Given the description of an element on the screen output the (x, y) to click on. 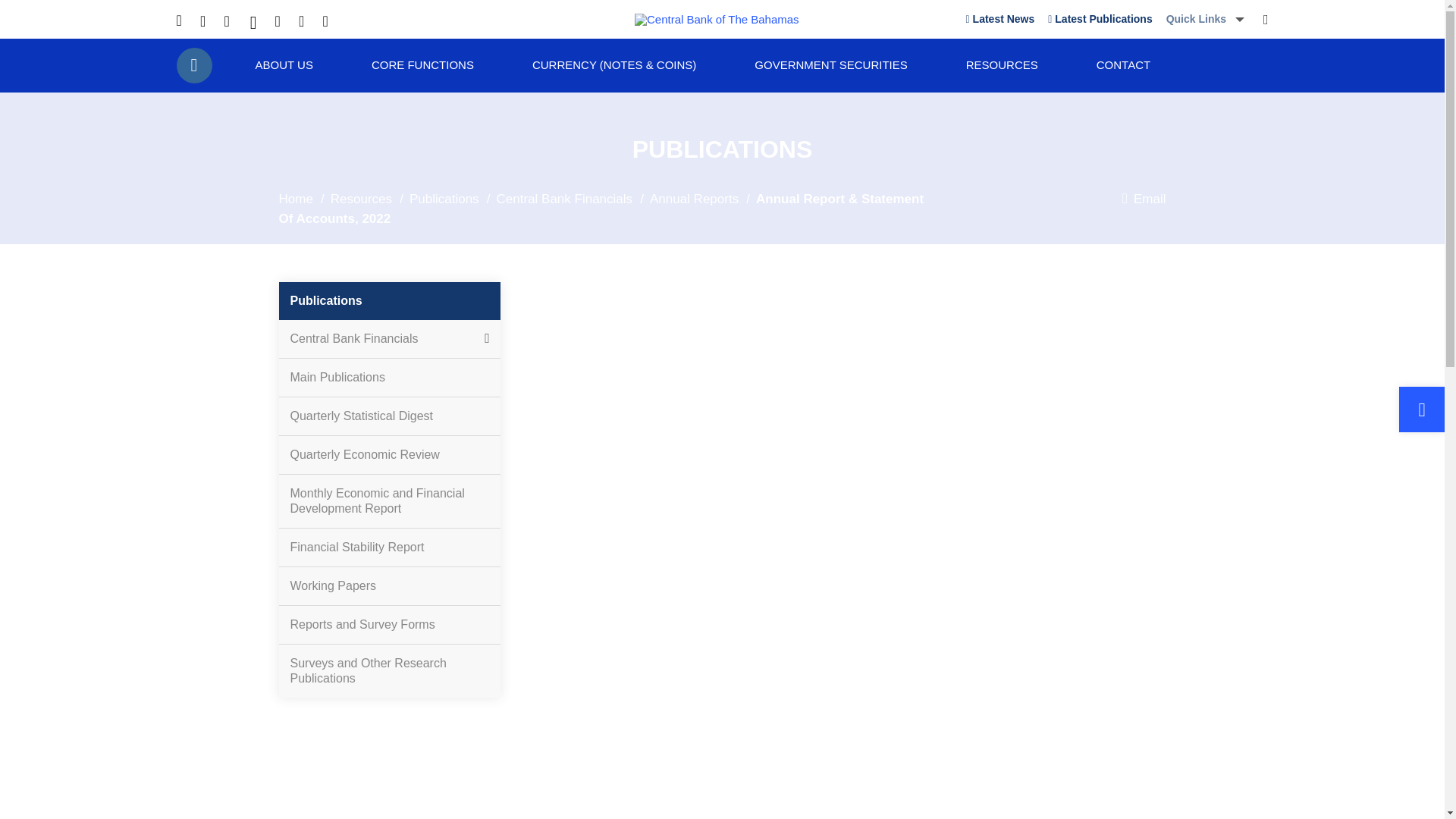
Latest News (1000, 19)
Latest News (1000, 19)
Central Bank of The Bahamas (716, 19)
Quick Links (1205, 19)
Central Bank of The Bahamas (716, 19)
HOME (193, 65)
ABOUT US (283, 65)
Latest Publications (1099, 19)
Latest Publications (1099, 19)
Quick Links (1205, 19)
